Given the description of an element on the screen output the (x, y) to click on. 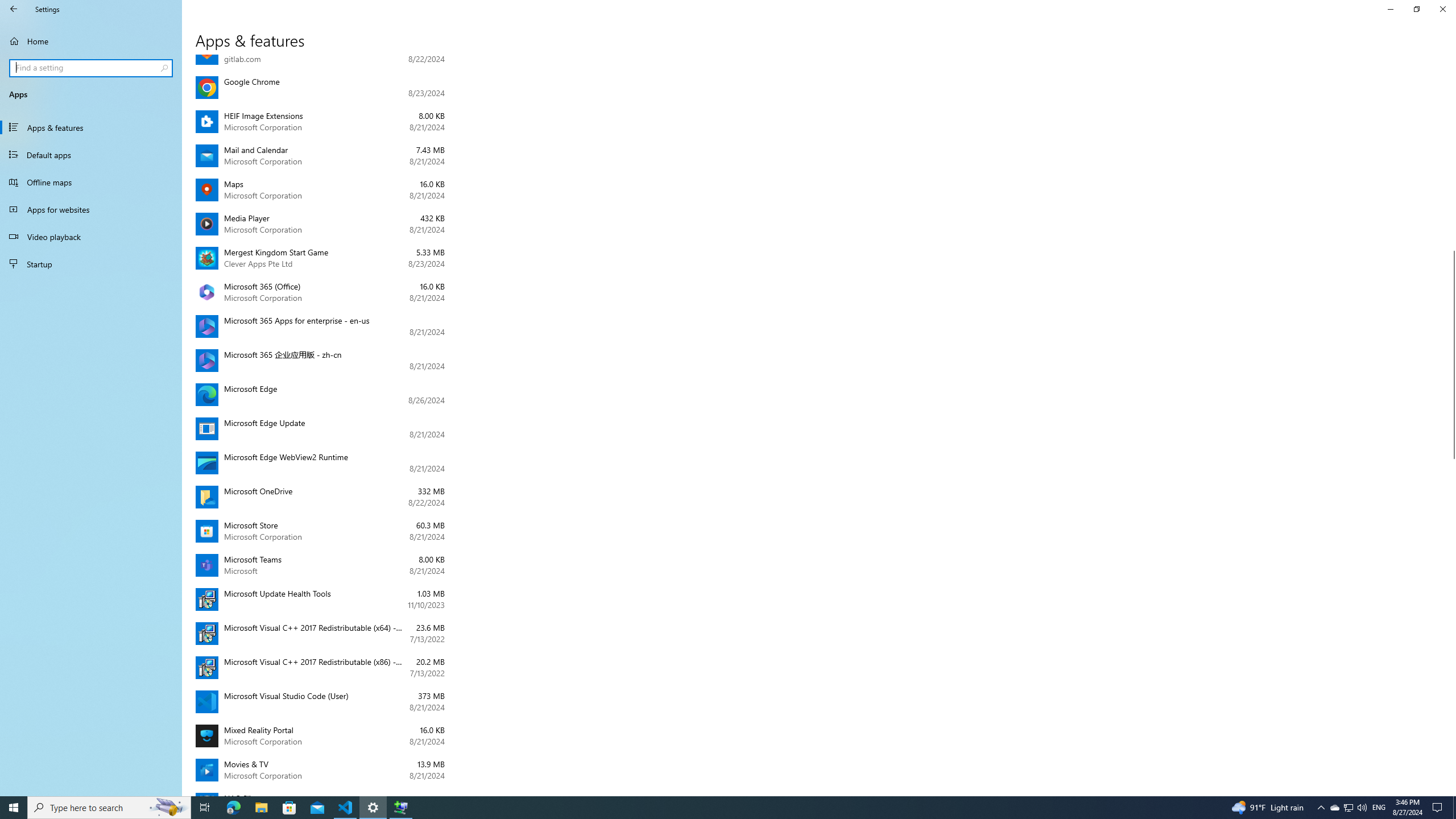
Apps & features (91, 126)
Vertical Large Decrease (1451, 156)
